Given the description of an element on the screen output the (x, y) to click on. 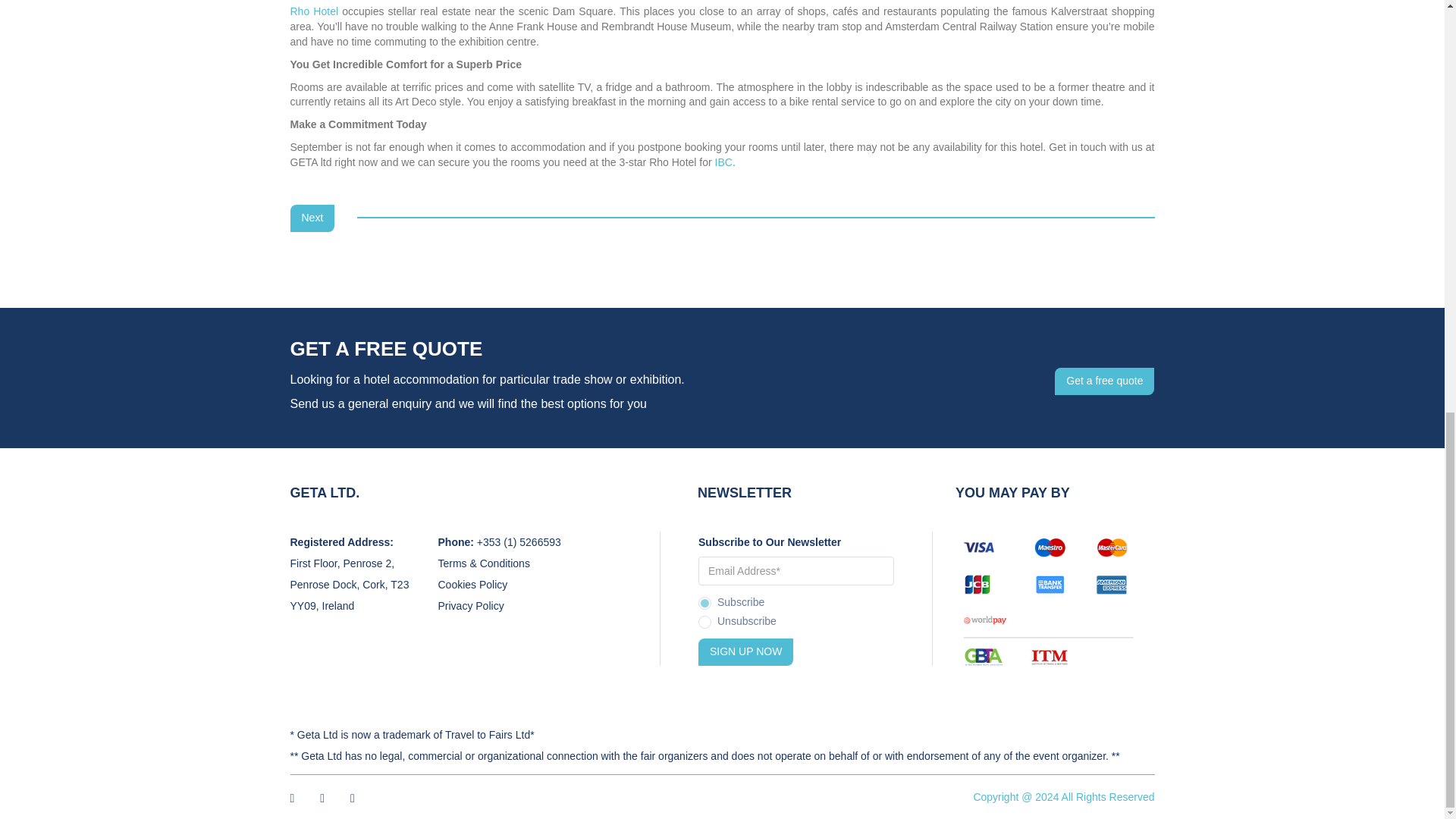
IBC (723, 162)
Get a free quote (1104, 380)
Privacy Policy (470, 605)
Next (311, 217)
SIGN UP NOW (745, 651)
Cookies Policy (473, 584)
Next (311, 217)
Privacy Policy (470, 605)
Cookies Policy (473, 584)
Rho Hotel (313, 10)
